Given the description of an element on the screen output the (x, y) to click on. 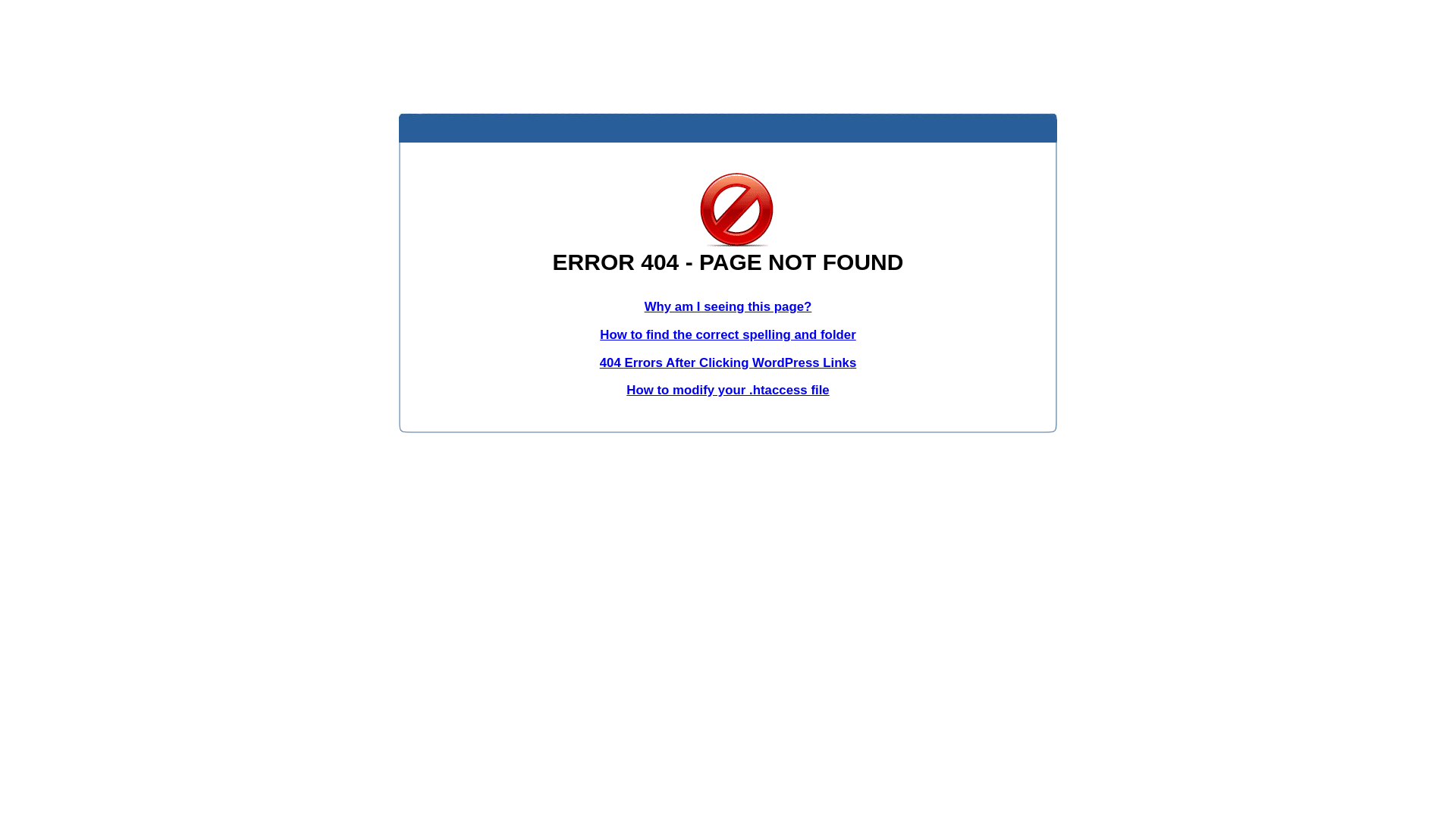
Why am I seeing this page? Element type: text (728, 306)
How to modify your .htaccess file Element type: text (727, 389)
How to find the correct spelling and folder Element type: text (727, 334)
404 Errors After Clicking WordPress Links Element type: text (727, 362)
